Given the description of an element on the screen output the (x, y) to click on. 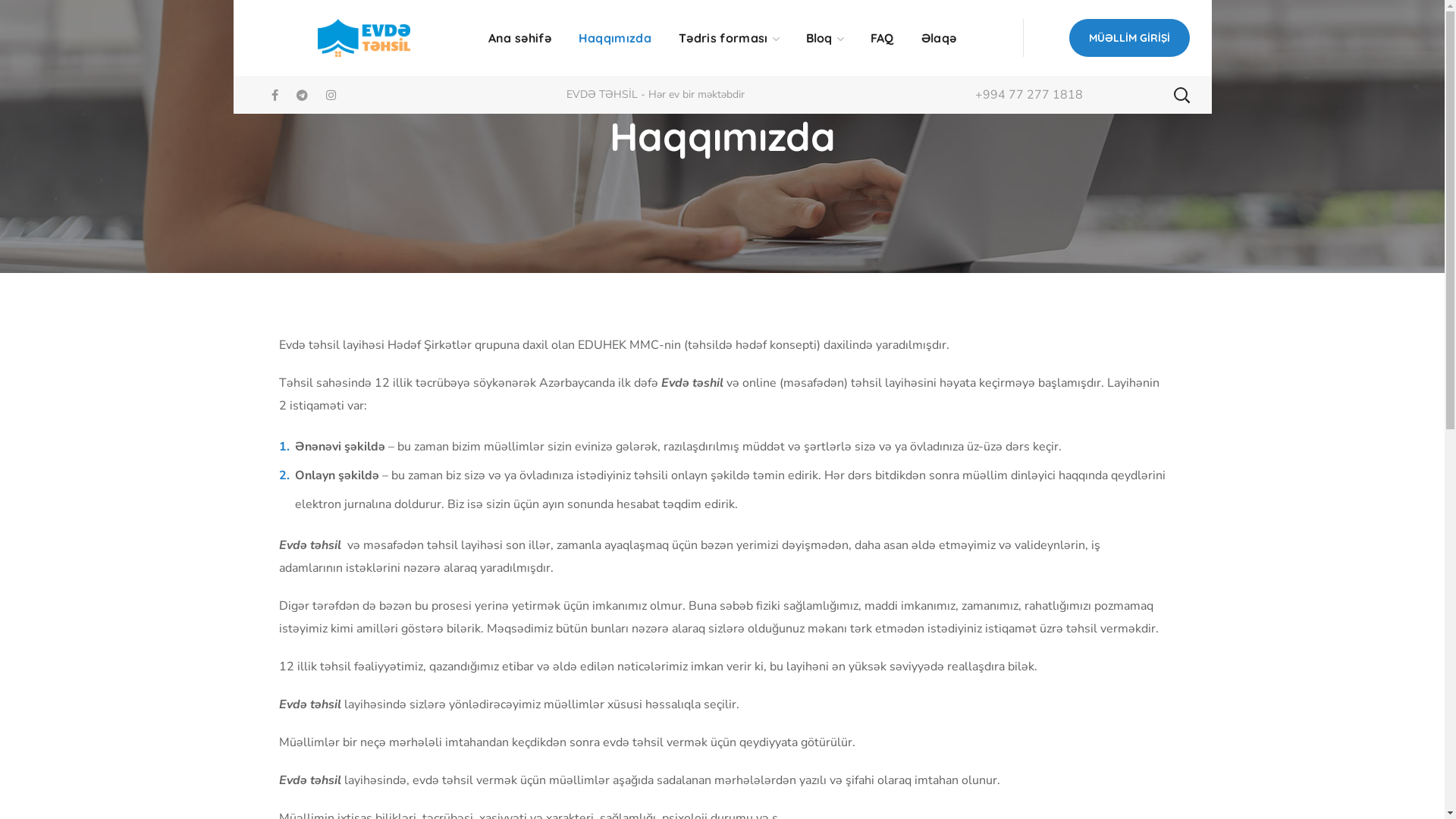
Bloq Element type: text (824, 37)
FAQ Element type: text (881, 37)
